Given the description of an element on the screen output the (x, y) to click on. 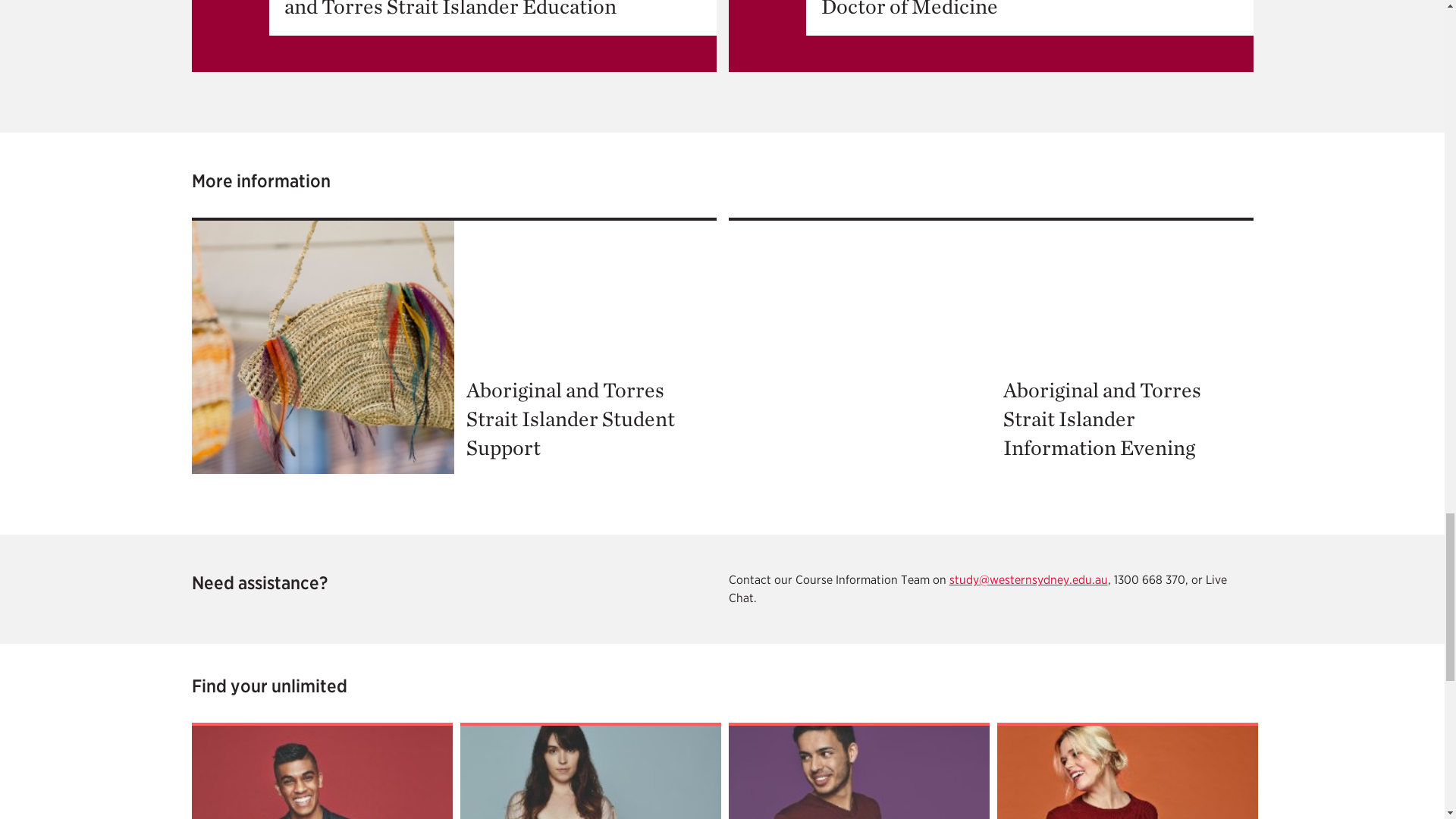
The College degrees (1126, 770)
Postgraduate degrees (590, 770)
Western Sydney University email address (1028, 579)
Doctor of Medicine (990, 36)
Undergraduate degrees (320, 770)
Research degrees (858, 770)
